Given the description of an element on the screen output the (x, y) to click on. 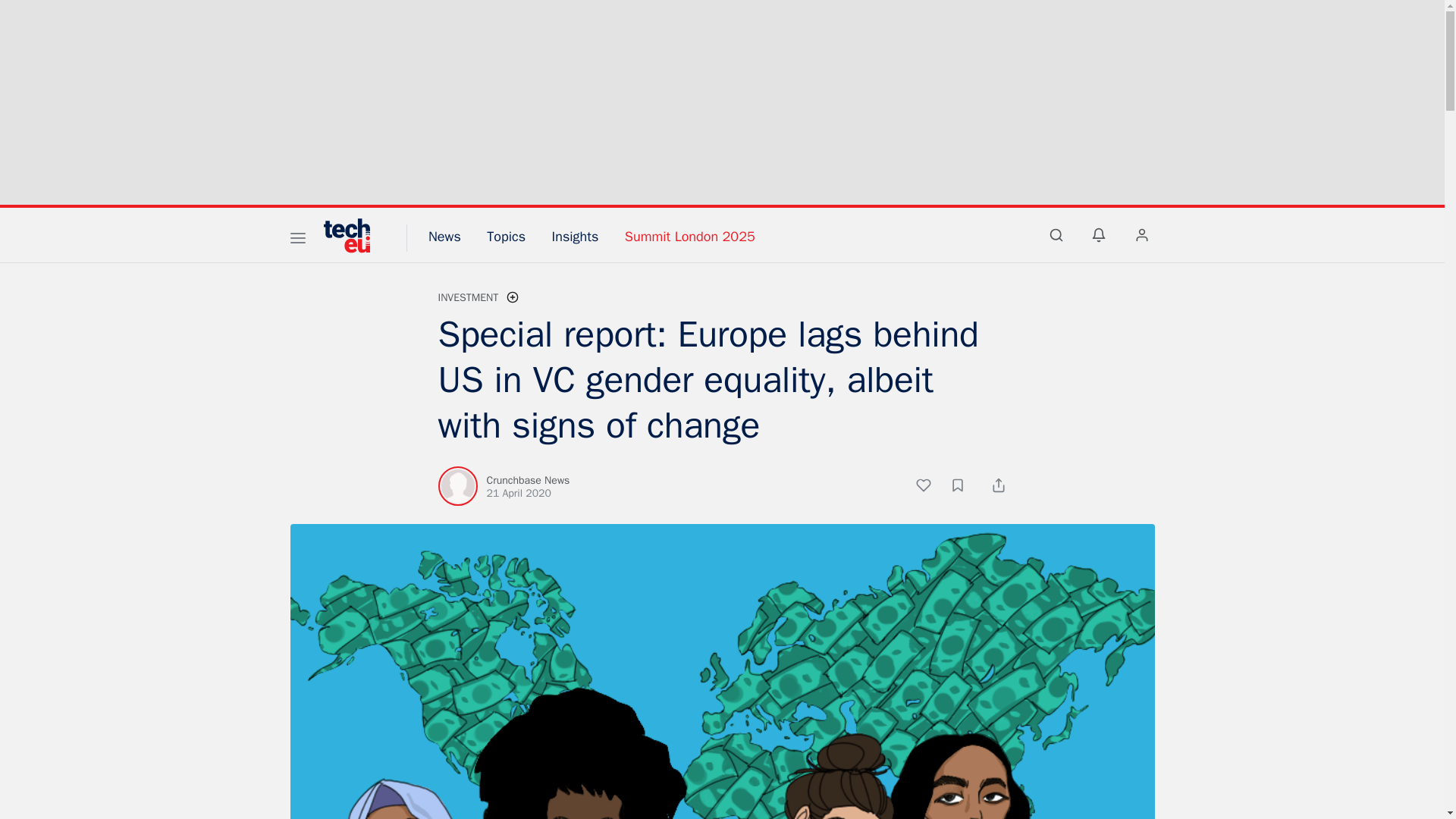
Investment (468, 297)
Like (930, 487)
Topics (505, 236)
News (444, 236)
Summit London 2025 (689, 236)
Add to Collection (964, 487)
Insights (574, 236)
